Given the description of an element on the screen output the (x, y) to click on. 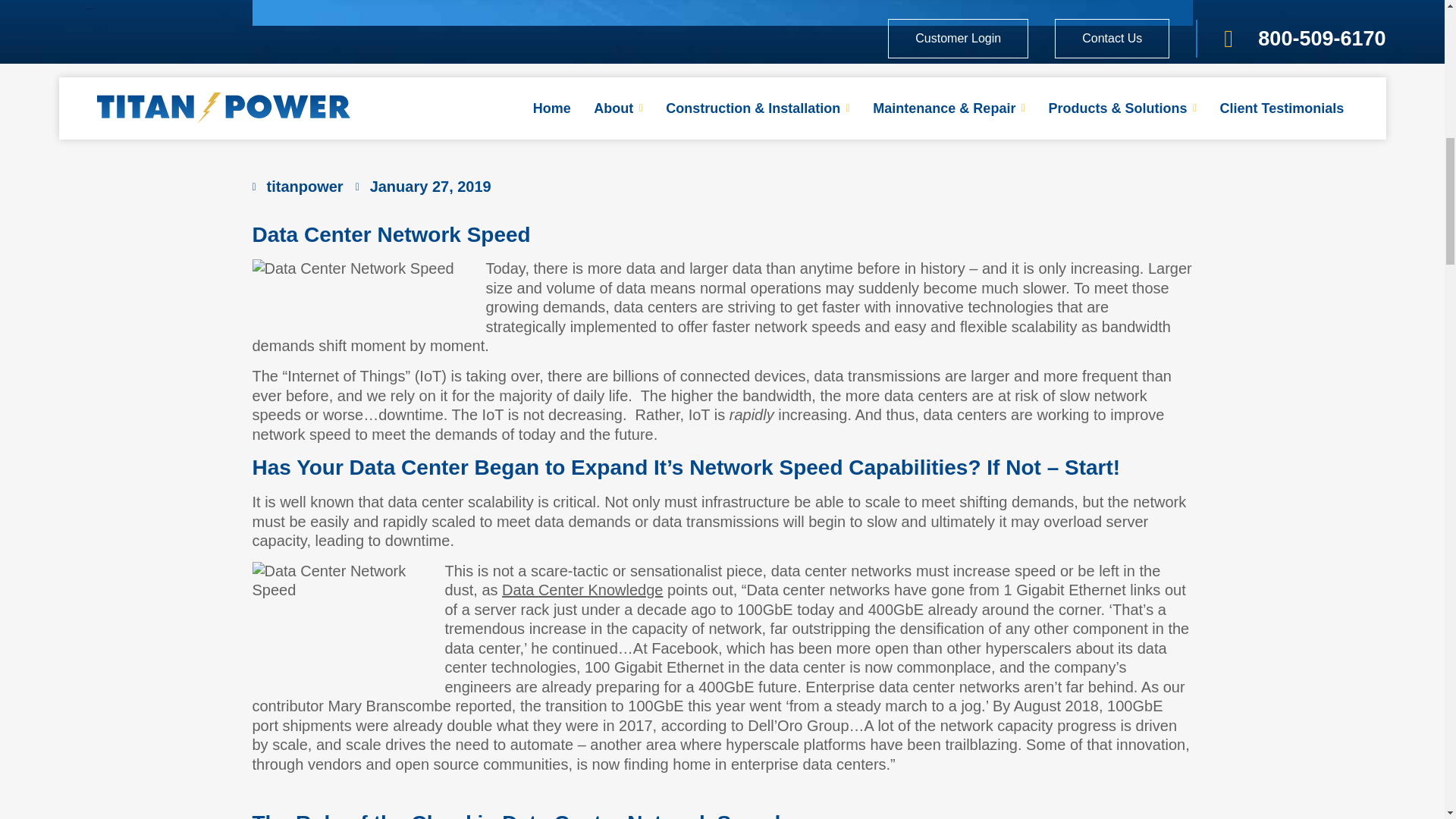
Data Center Network Speed (362, 293)
Data Center Network Speed (341, 626)
